Given the description of an element on the screen output the (x, y) to click on. 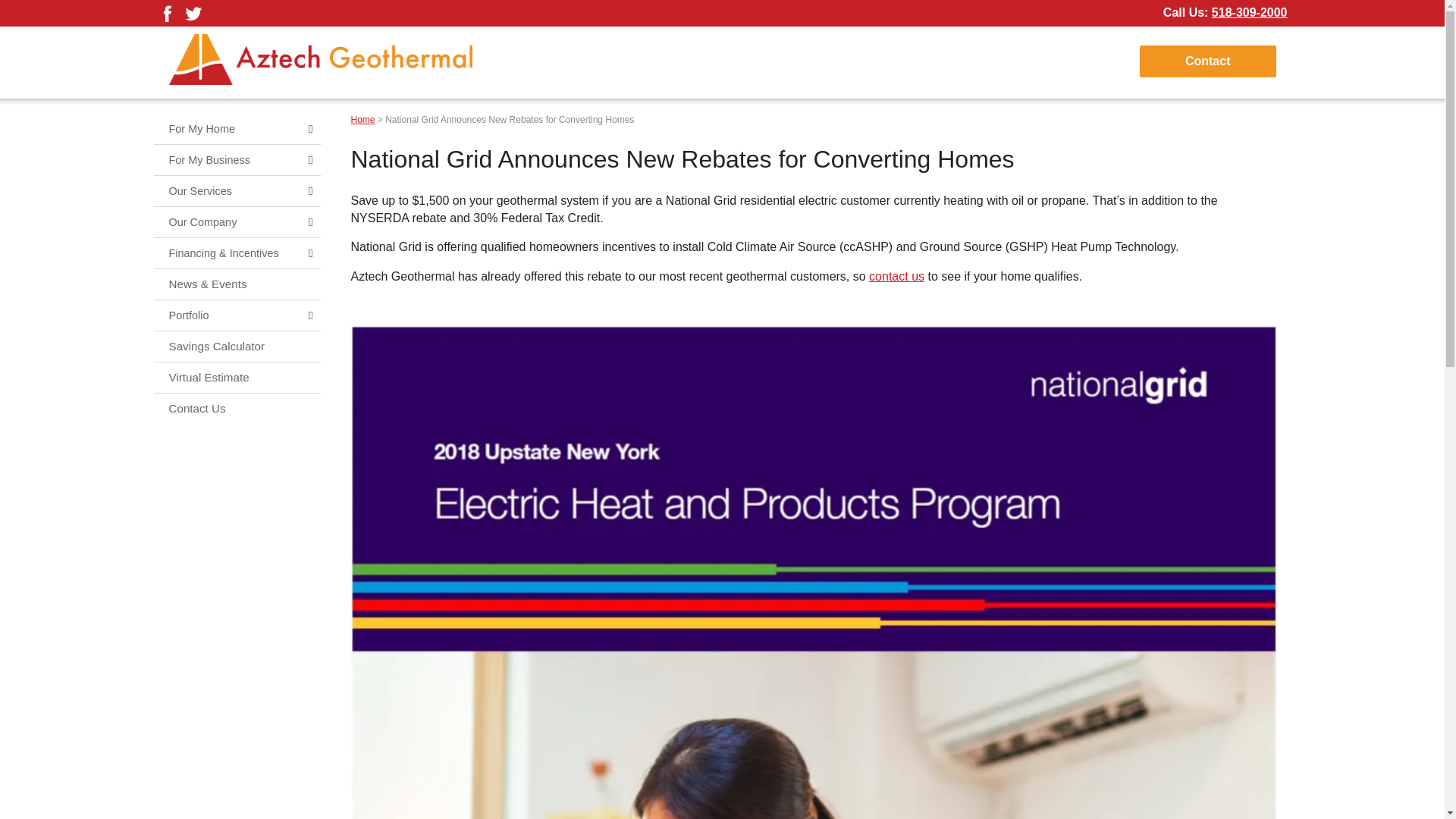
Contact (1208, 60)
Our Company (236, 222)
Our Company (236, 222)
Geothermal For My Business (236, 159)
Our Services (236, 191)
Contact Us (236, 408)
For My Home (236, 128)
Virtual Estimate (236, 377)
Virtual Estimate (236, 377)
Portfolio (236, 315)
518-309-2000 (1249, 11)
Contact Us (236, 408)
Geothermal For My Home (236, 128)
Savings Calculator (236, 346)
Savings Calculator (236, 346)
